Given the description of an element on the screen output the (x, y) to click on. 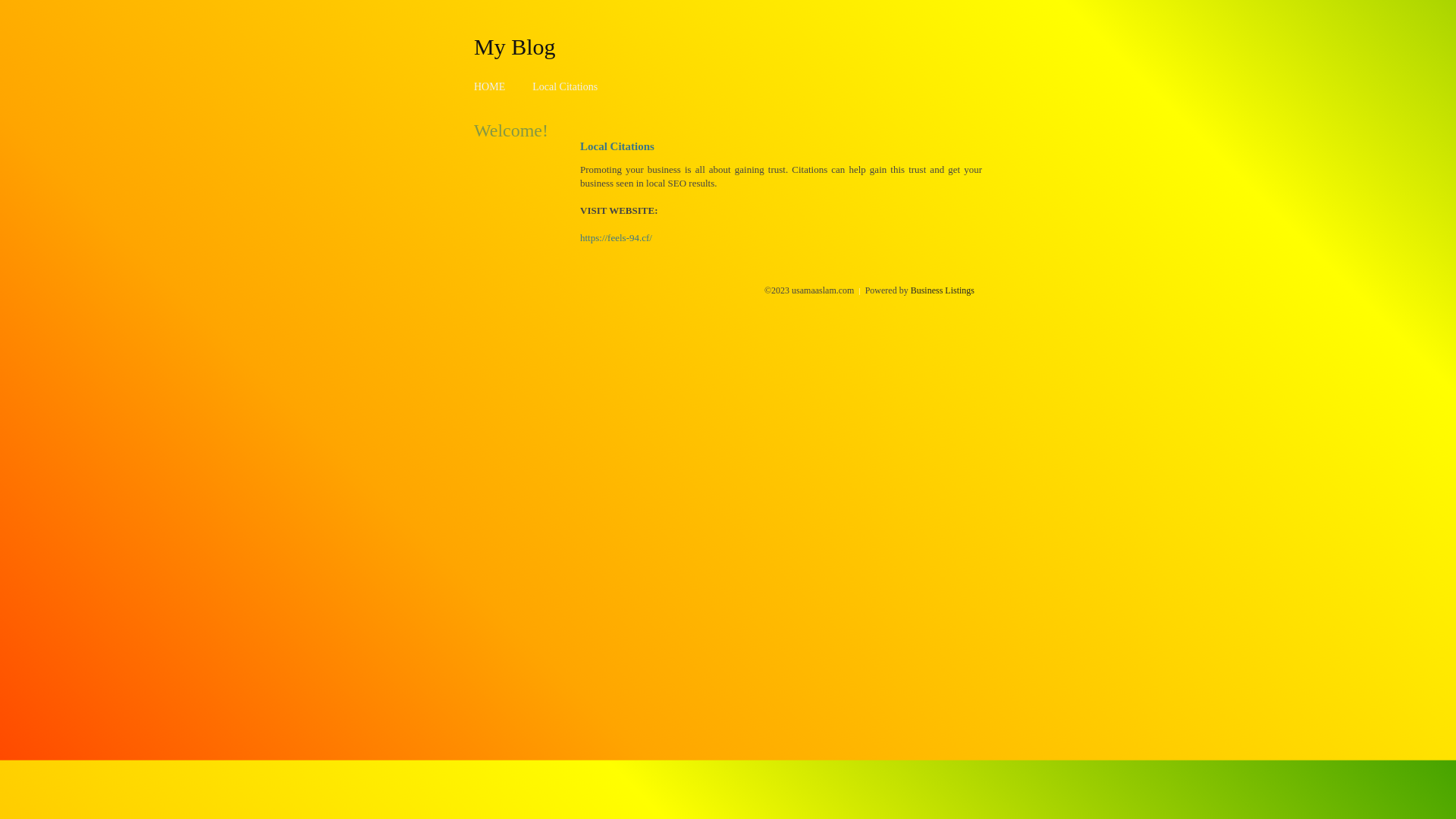
HOME Element type: text (489, 86)
My Blog Element type: text (514, 46)
https://feels-94.cf/ Element type: text (616, 237)
Local Citations Element type: text (564, 86)
Business Listings Element type: text (942, 290)
